Given the description of an element on the screen output the (x, y) to click on. 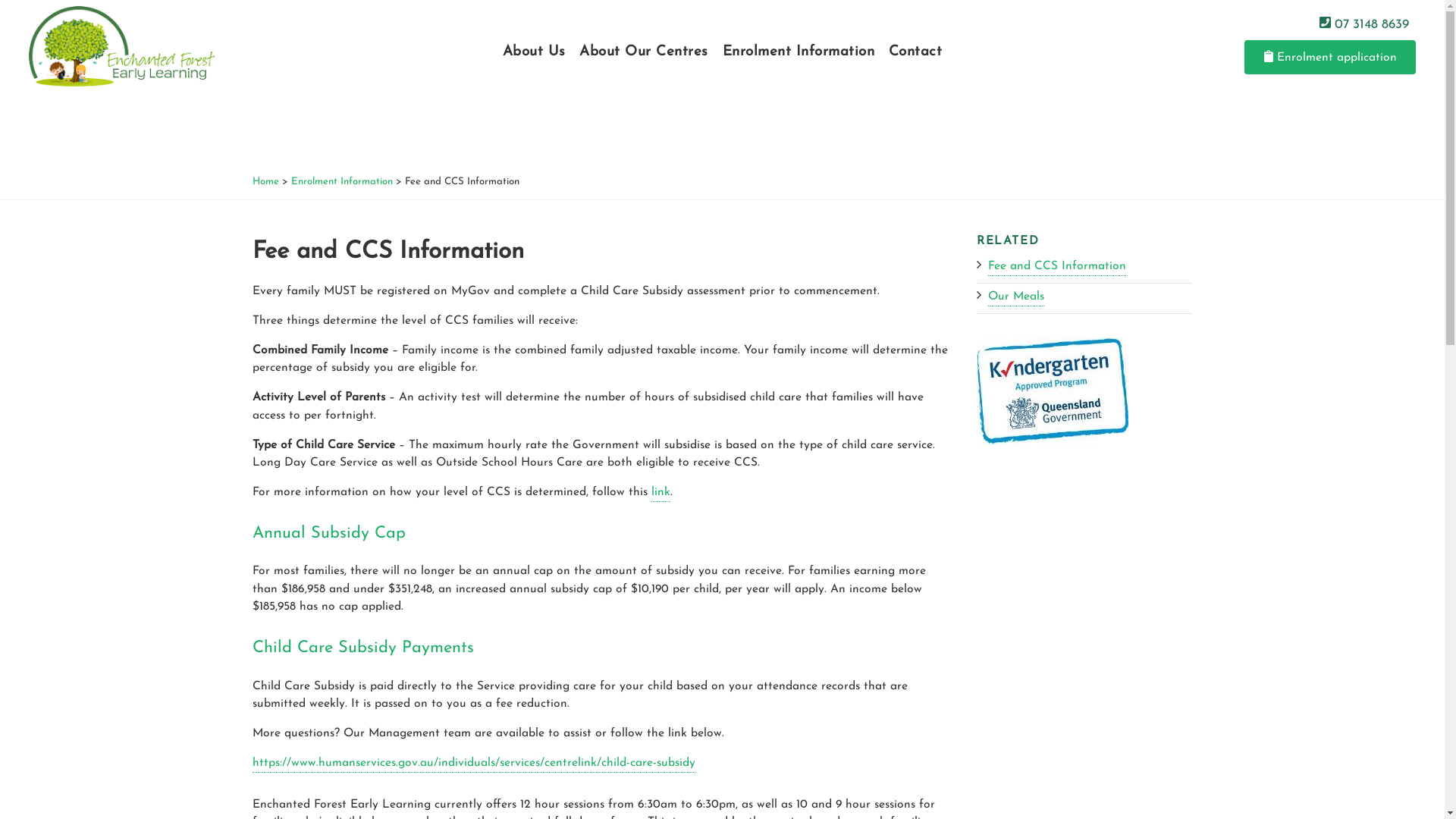
About Our Centres Element type: text (643, 52)
Home Element type: text (264, 182)
Enrolment Information Element type: text (798, 52)
Enchanted Forest Child Care Element type: hover (121, 46)
Contact Element type: text (915, 52)
About Us Element type: text (533, 52)
Fee and CCS Information Element type: text (1057, 268)
link Element type: text (659, 494)
07 3148 8639 Element type: text (1364, 24)
Enrolment Information Element type: text (341, 182)
Our Meals Element type: text (1016, 298)
Enrolment application Element type: text (1329, 56)
